Given the description of an element on the screen output the (x, y) to click on. 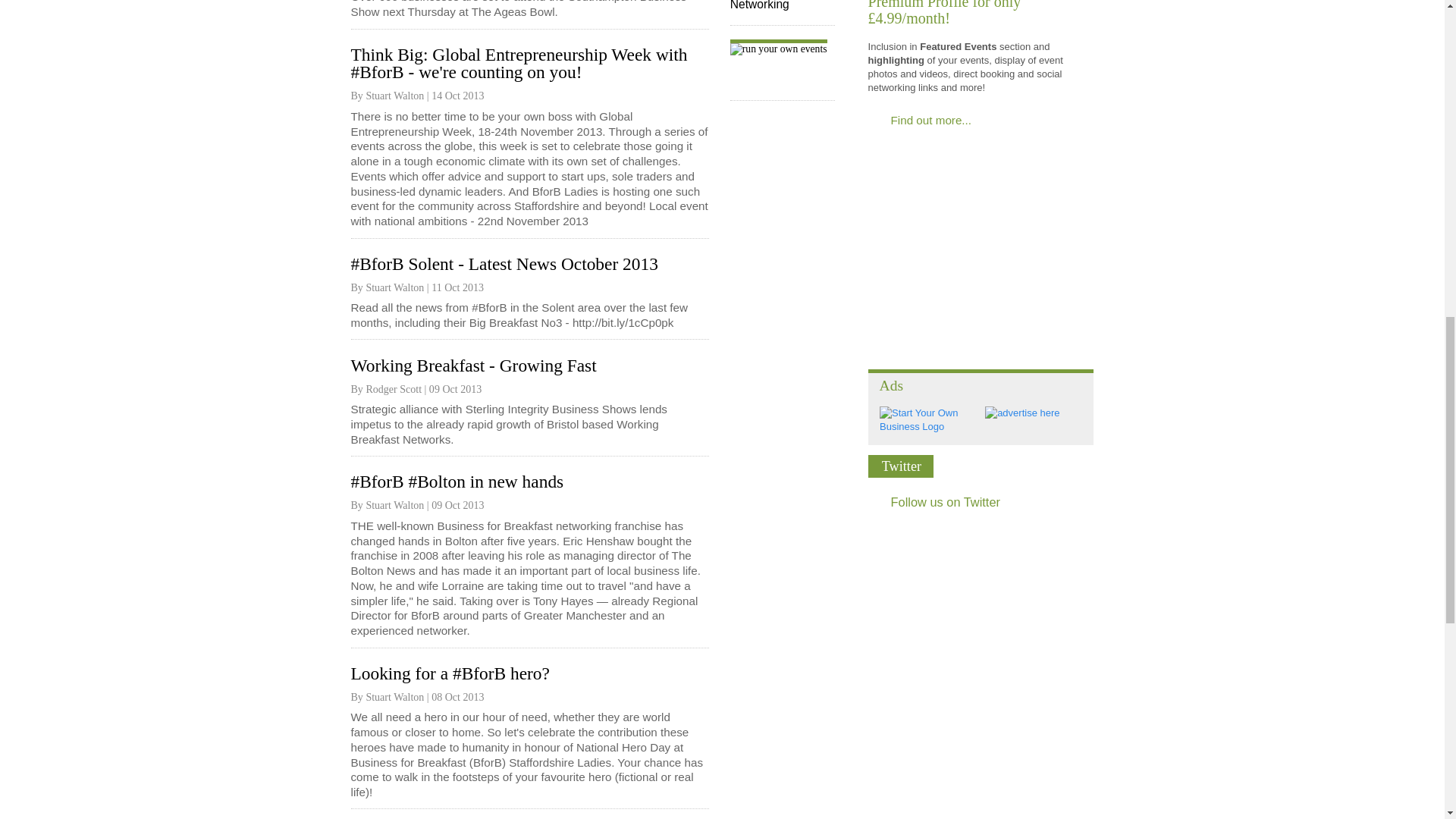
A Quick Guide to Business Networking (782, 12)
Advertise Here (1022, 412)
Start Your Own Business Logo (927, 426)
Run your own networking events (782, 69)
Follow us on Twitter (980, 501)
